Given the description of an element on the screen output the (x, y) to click on. 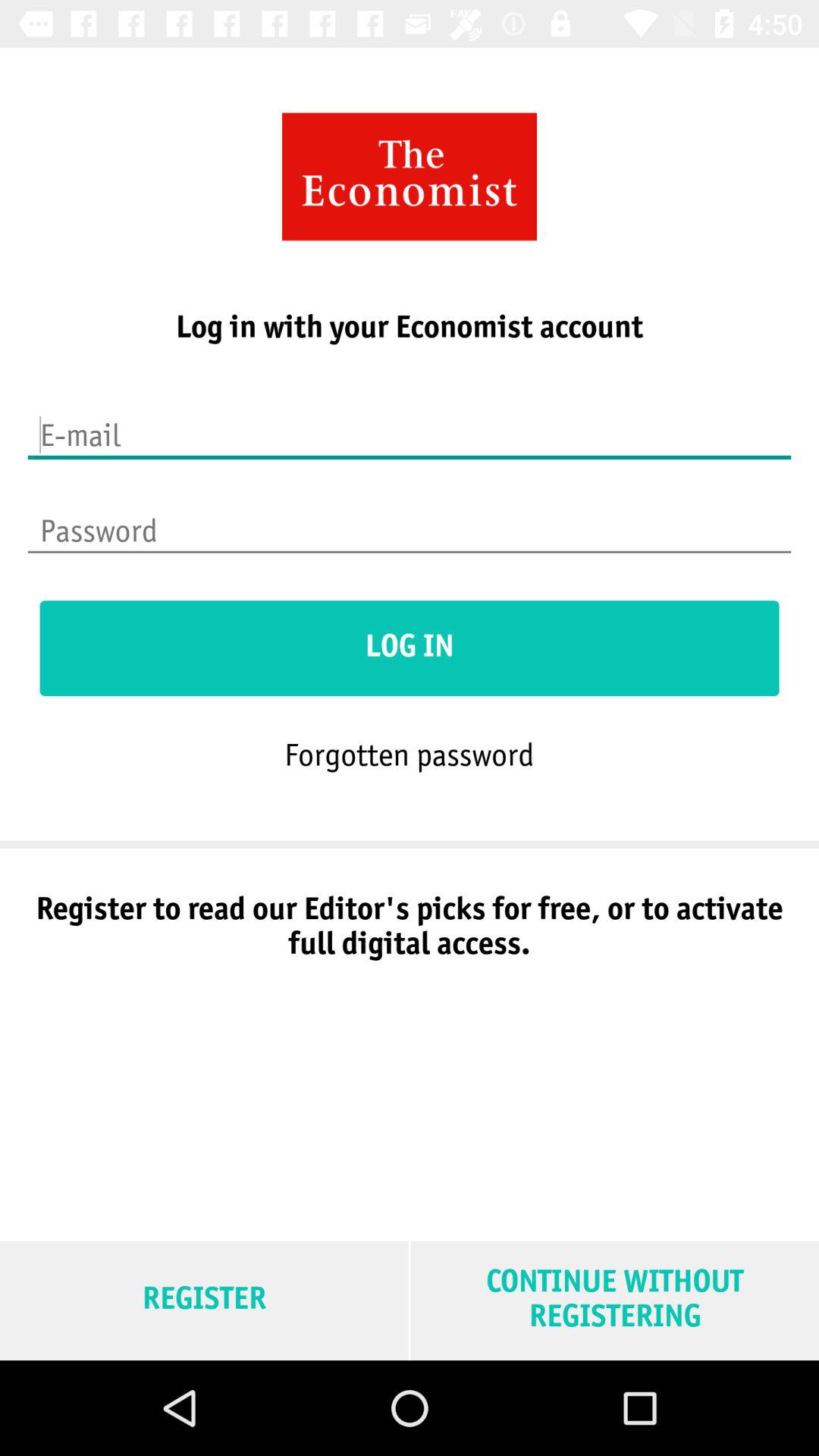
turn off item next to register (614, 1300)
